Given the description of an element on the screen output the (x, y) to click on. 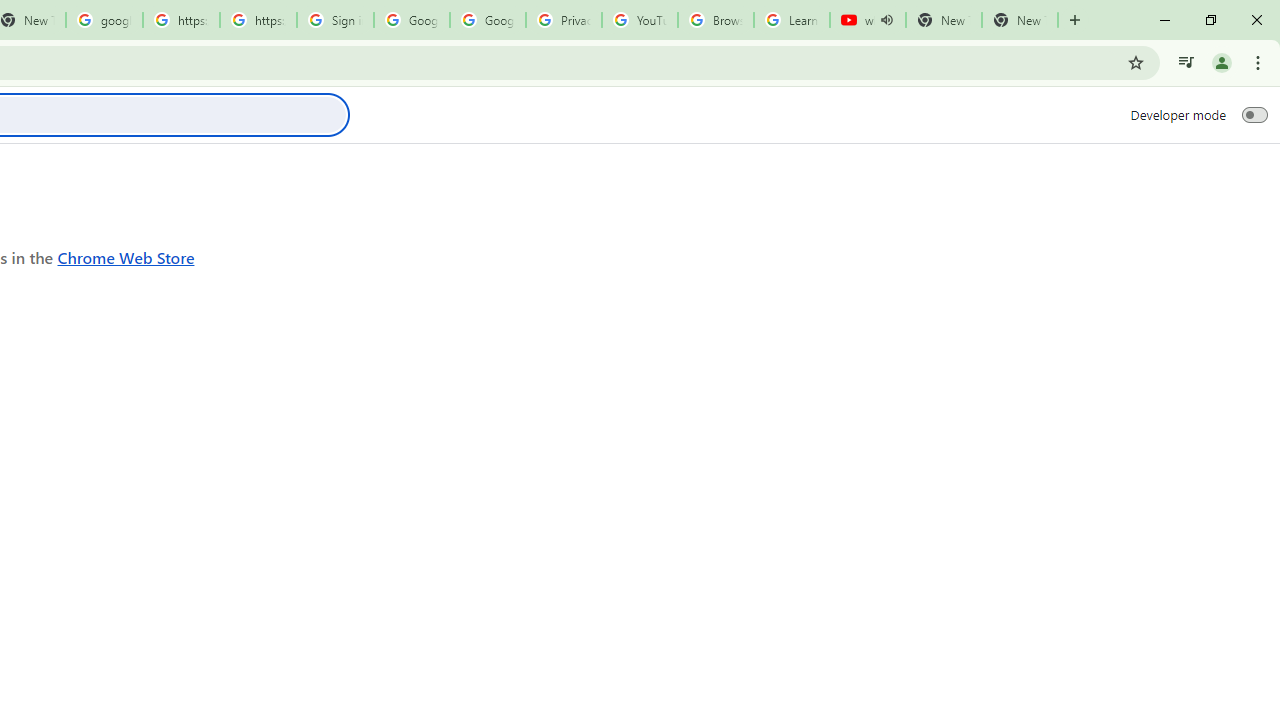
Chrome Web Store (125, 256)
New Tab (1019, 20)
Browse Chrome as a guest - Computer - Google Chrome Help (715, 20)
https://scholar.google.com/ (258, 20)
YouTube (639, 20)
